Given the description of an element on the screen output the (x, y) to click on. 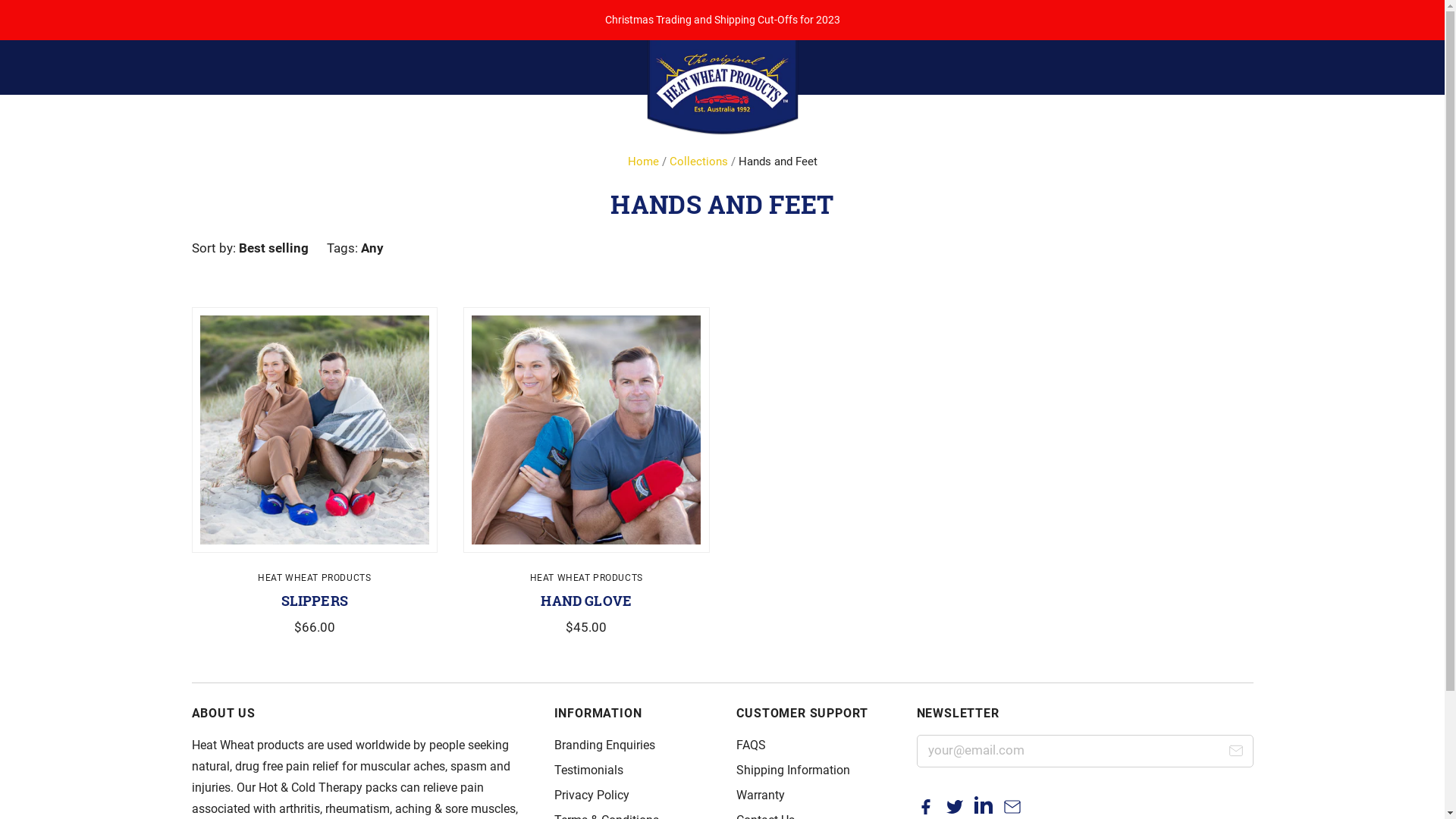
HEAT WHEAT PRODUCTS Element type: text (586, 577)
Shipping Information Element type: text (793, 769)
CONTACT Element type: text (1127, 174)
SLIPPERS Element type: text (314, 600)
Branding Enquiries Element type: text (603, 744)
HOME Element type: text (515, 174)
Christmas Trading and Shipping Cut-Offs for 2023 Element type: text (722, 20)
FAQS Element type: text (750, 744)
HAND GLOVE Element type: text (585, 600)
Privacy Policy Element type: text (590, 794)
WHOLESALE SIGN-UP Element type: text (882, 174)
HEAT WHEAT PRODUCTS Element type: text (313, 577)
ABOUT CHEVRON DOWN ICON Element type: text (565, 174)
Testimonials Element type: text (587, 769)
WHOLESALE LOGIN Element type: text (1030, 174)
COLOUR GALLERY Element type: text (766, 174)
Home Element type: text (642, 161)
MAIL ICON Element type: text (1236, 753)
SHOP CHEVRON DOWN ICON Element type: text (627, 174)
Warranty Element type: text (760, 794)
Collections Element type: text (697, 161)
FAQS CHEVRON DOWN ICON Element type: text (685, 174)
